Given the description of an element on the screen output the (x, y) to click on. 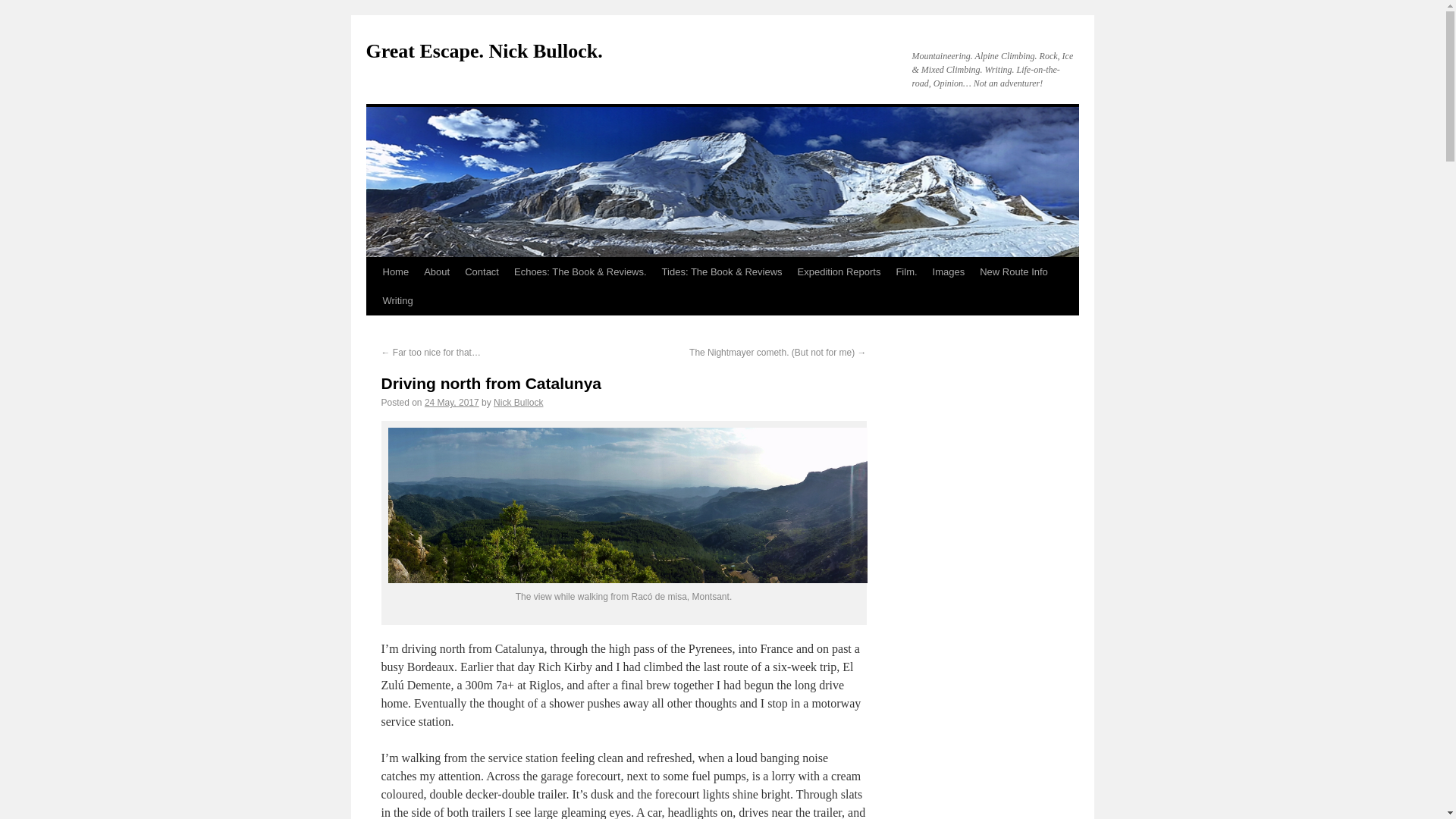
Film. (906, 271)
Expedition Reports (839, 271)
Great Escape. Nick Bullock. (483, 51)
10:43 am (452, 402)
About (436, 271)
Contact (481, 271)
Home (395, 271)
View all posts by Nick Bullock (518, 402)
Great Escape. Nick Bullock. (483, 51)
